Given the description of an element on the screen output the (x, y) to click on. 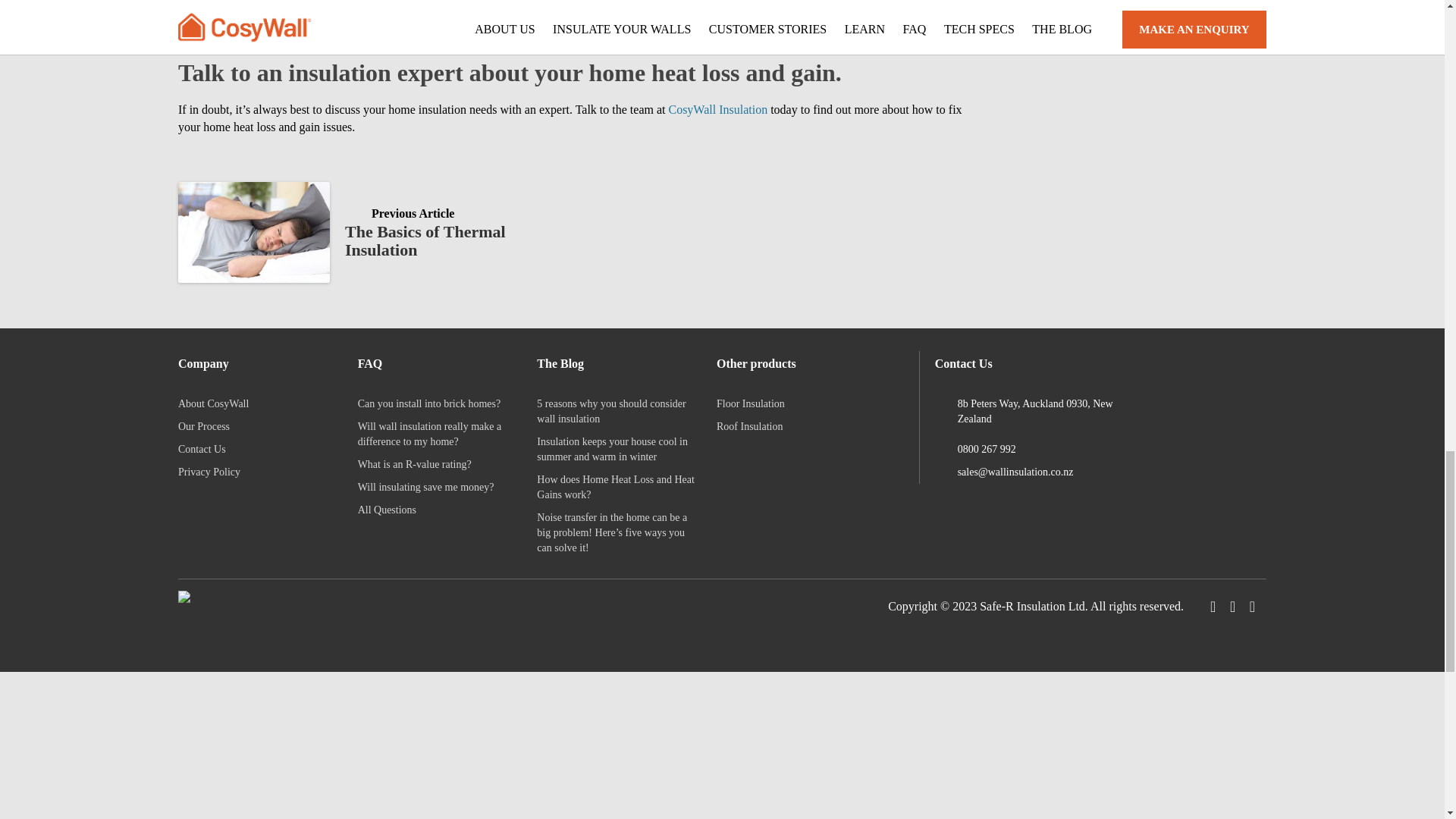
5 reasons why you should consider wall insulation (611, 411)
Floor Insulation (750, 403)
Our Process (203, 426)
Privacy Policy (208, 471)
All Questions (387, 509)
How does Home Heat Loss and Heat Gains work? (615, 487)
What is an R-value rating? (414, 464)
About CosyWall (367, 231)
Will wall insulation really make a difference to my home? (212, 403)
Can you install into brick homes? (430, 433)
Will insulating save me money? (429, 403)
CosyWall Insulation (426, 487)
Contact Us (717, 109)
